Given the description of an element on the screen output the (x, y) to click on. 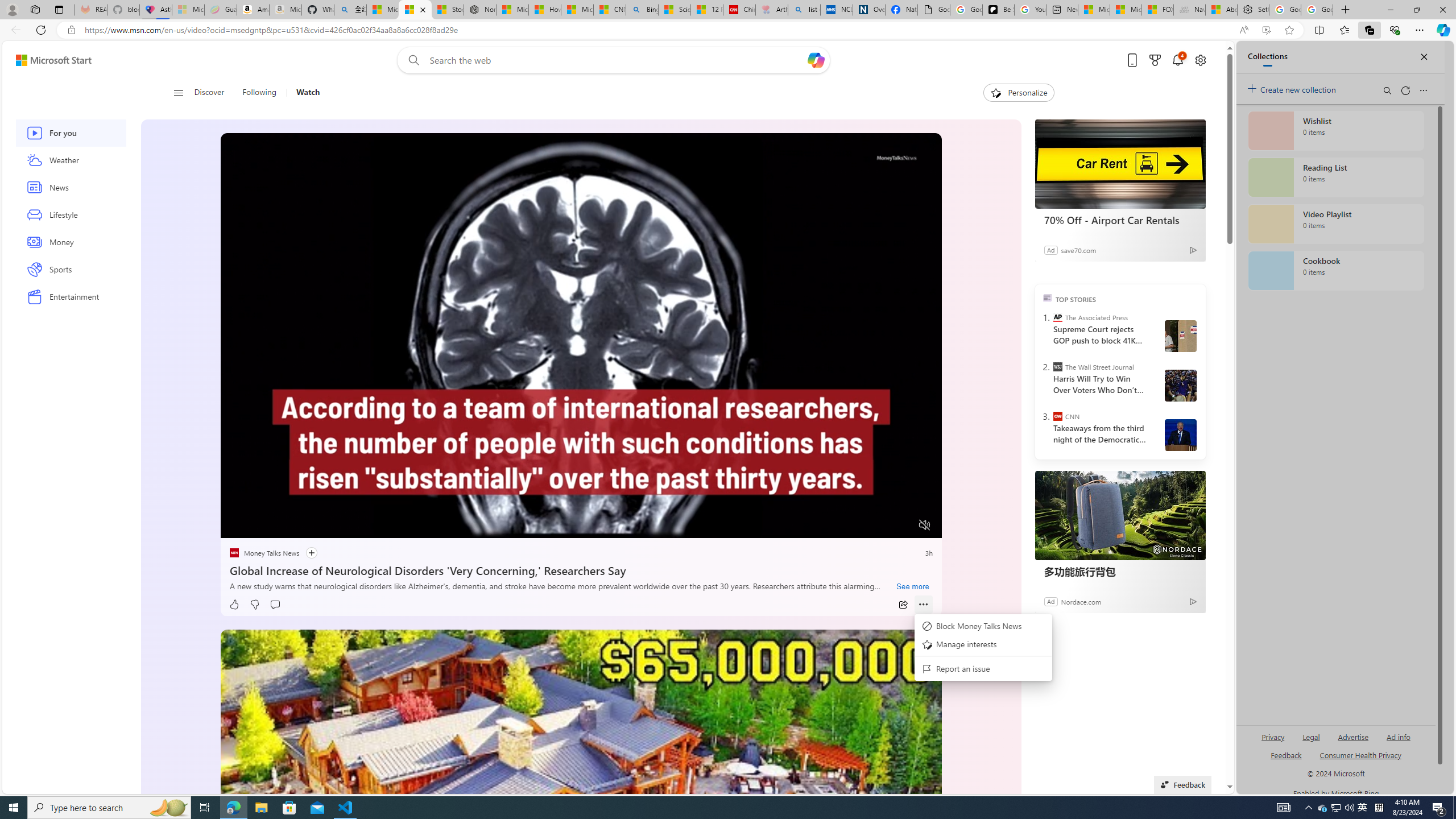
Pause (236, 525)
Quality Settings (857, 525)
AutomationID: sb_feedback (1286, 754)
CNN (1057, 415)
FOX News - MSN (1157, 9)
